Given the description of an element on the screen output the (x, y) to click on. 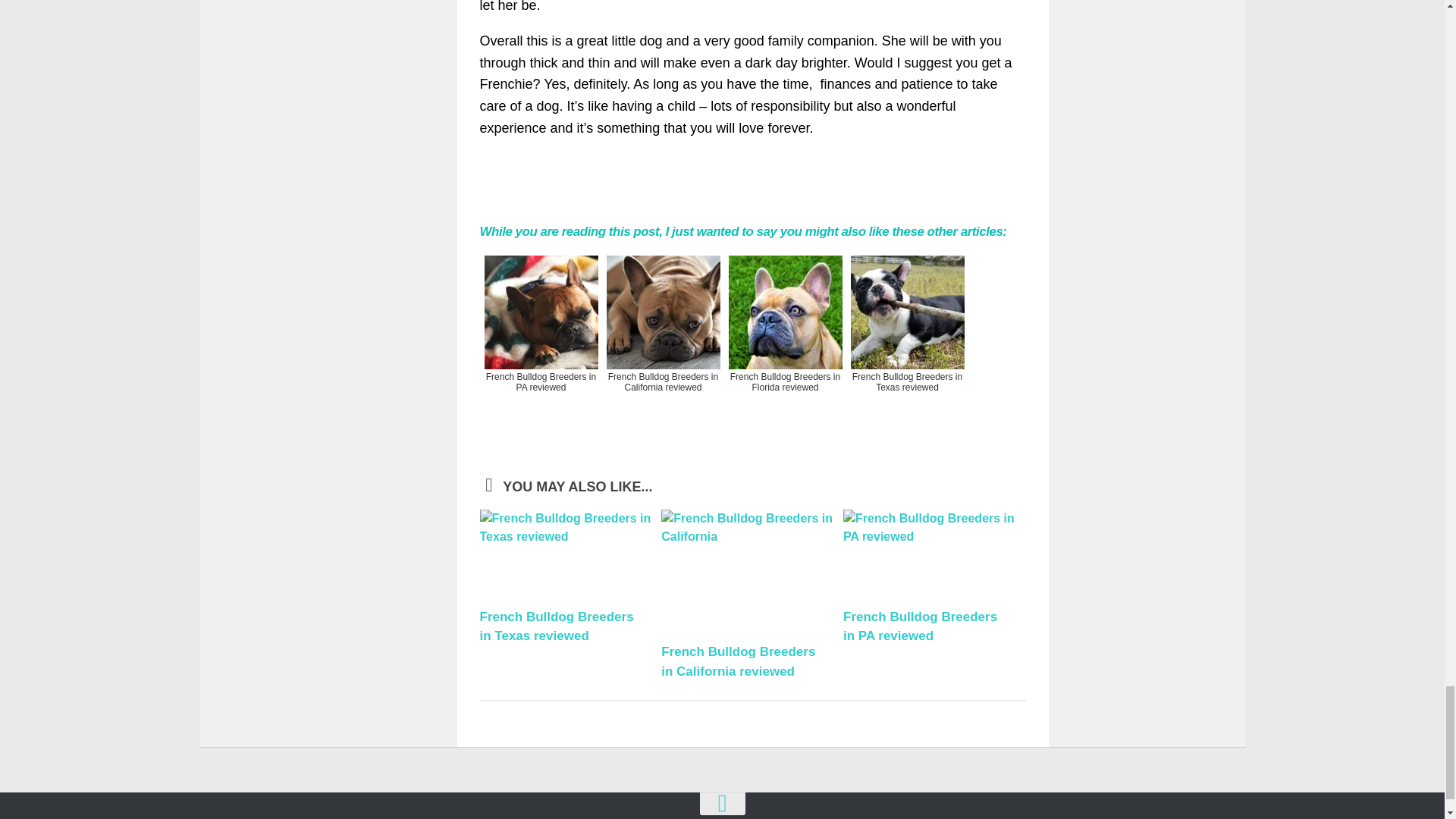
Permalink to French Bulldog Breeders in PA reviewed (920, 626)
Permalink to French Bulldog Breeders in Texas reviewed (556, 626)
Permalink to French Bulldog Breeders in California reviewed (738, 661)
